Given the description of an element on the screen output the (x, y) to click on. 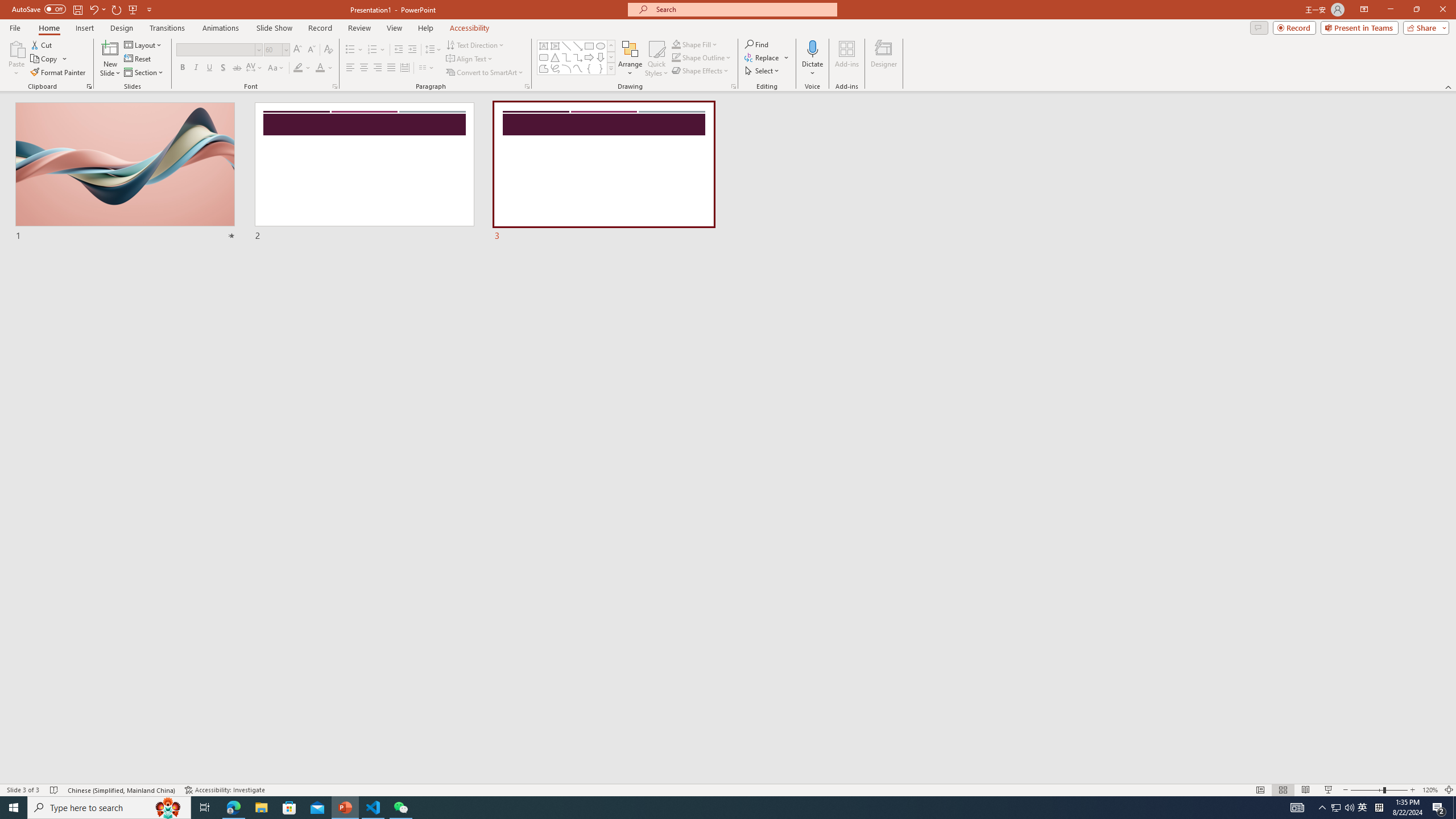
Shape Outline Blue, Accent 1 (675, 56)
